Given the description of an element on the screen output the (x, y) to click on. 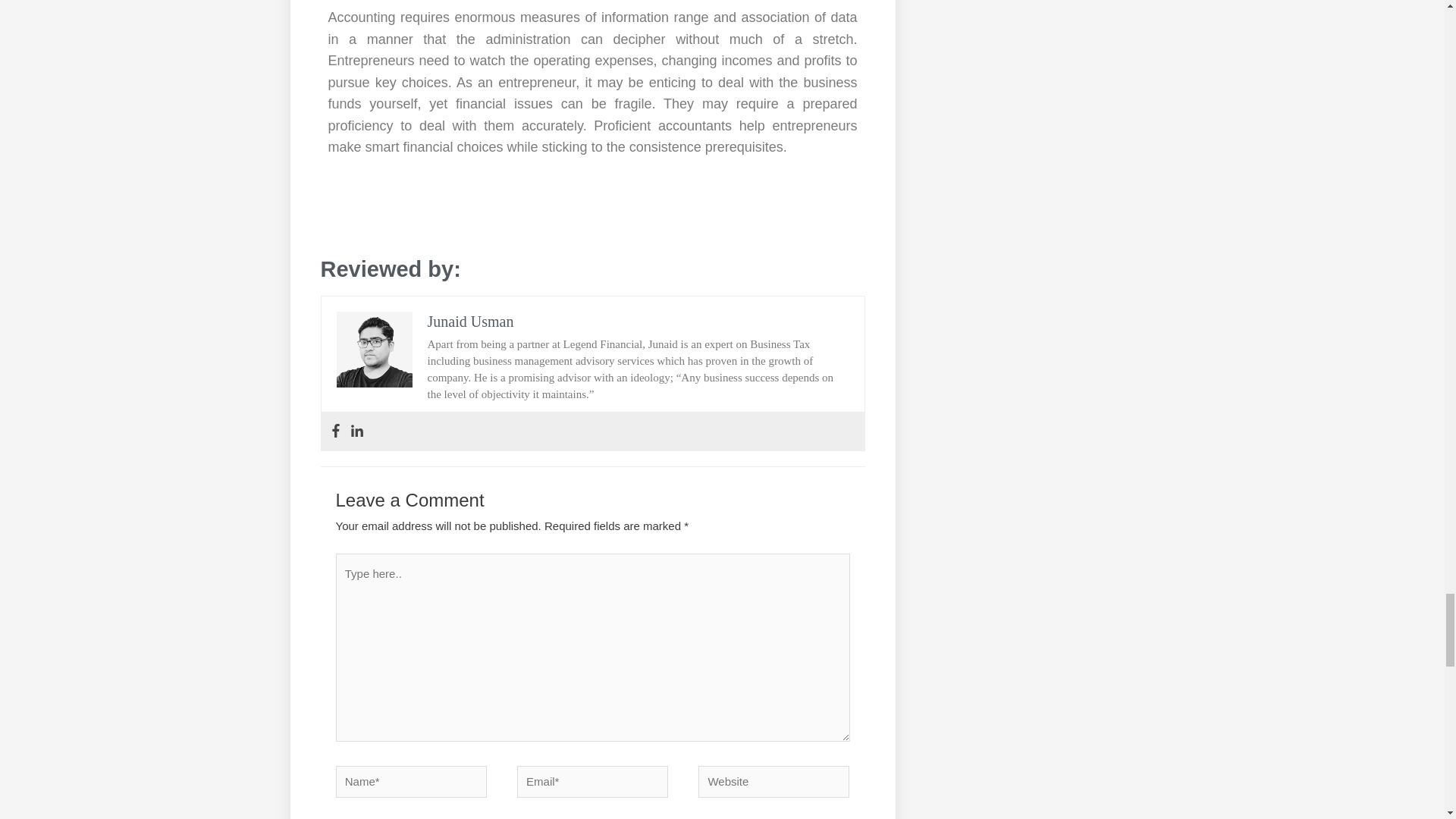
Facebook (335, 431)
Linkedin (357, 431)
